Given the description of an element on the screen output the (x, y) to click on. 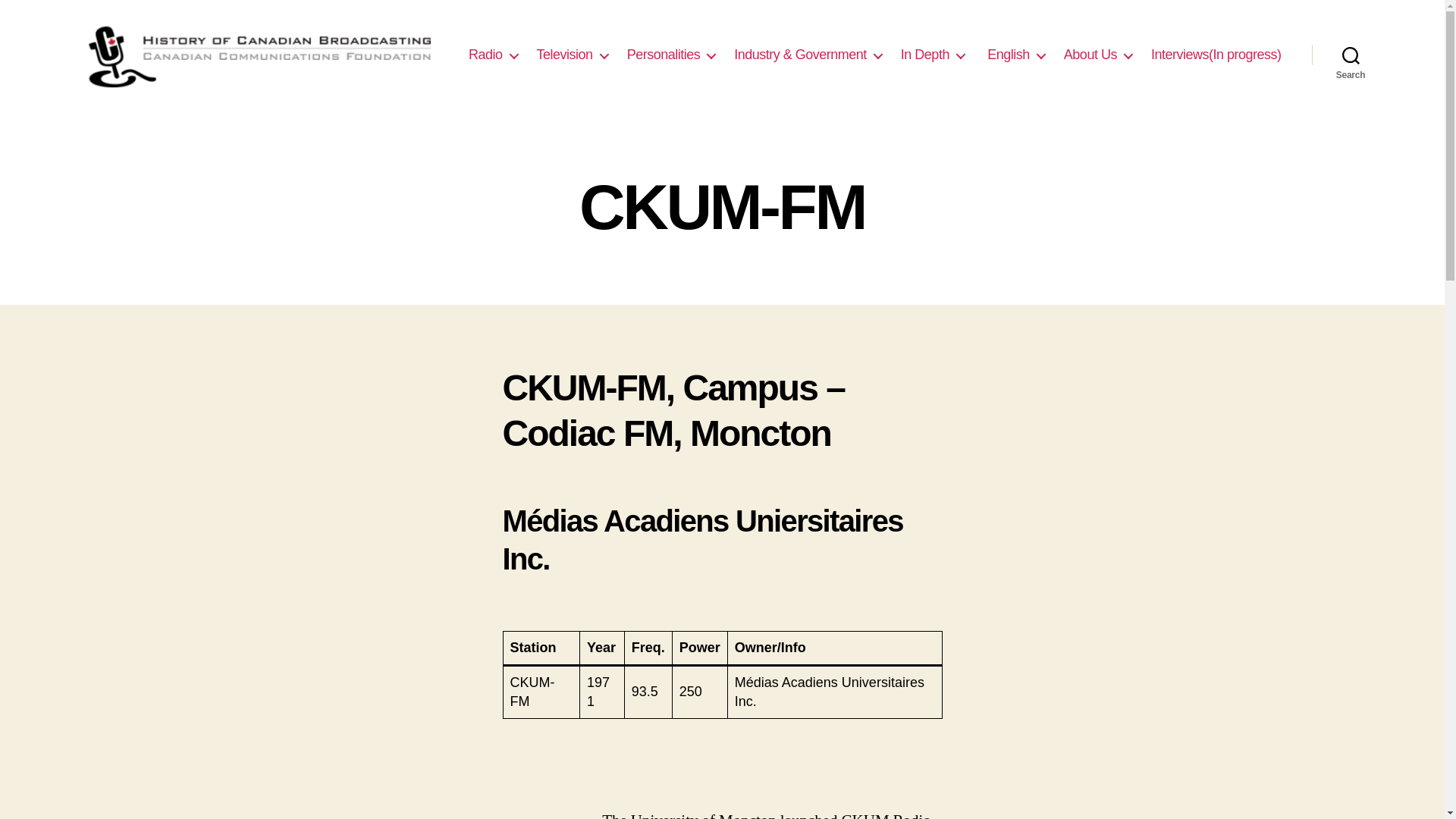
In Depth (932, 54)
English (1014, 54)
Television (572, 54)
Radio (493, 54)
Search (1350, 55)
About Us (1098, 54)
Personalities (671, 54)
